Given the description of an element on the screen output the (x, y) to click on. 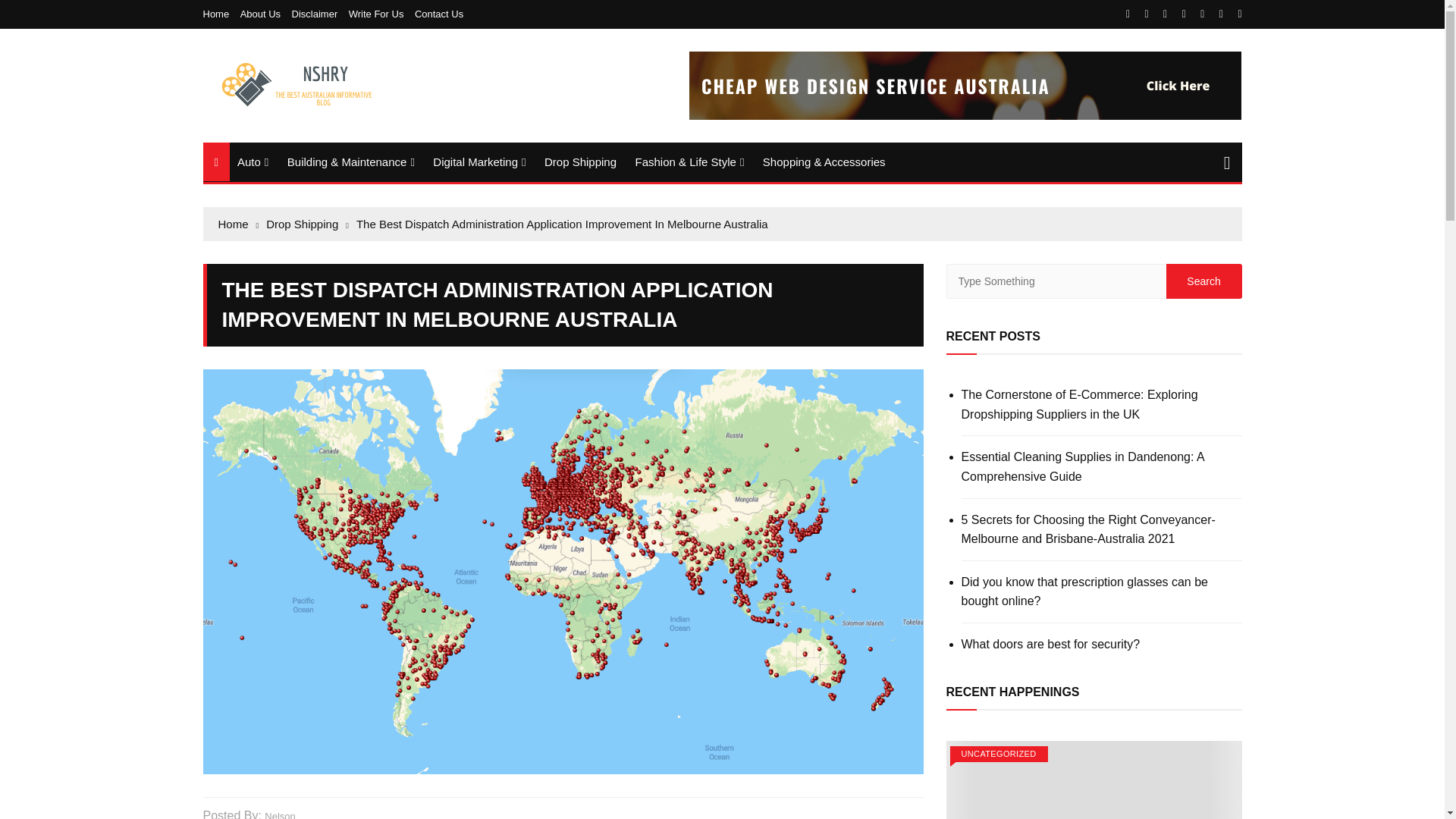
Home (220, 13)
Drop Shipping (580, 161)
Search (1203, 280)
About Us (264, 13)
Contact Us (438, 13)
Auto (253, 161)
Digital Marketing (478, 161)
Disclaimer (319, 13)
Write For Us (380, 13)
